Given the description of an element on the screen output the (x, y) to click on. 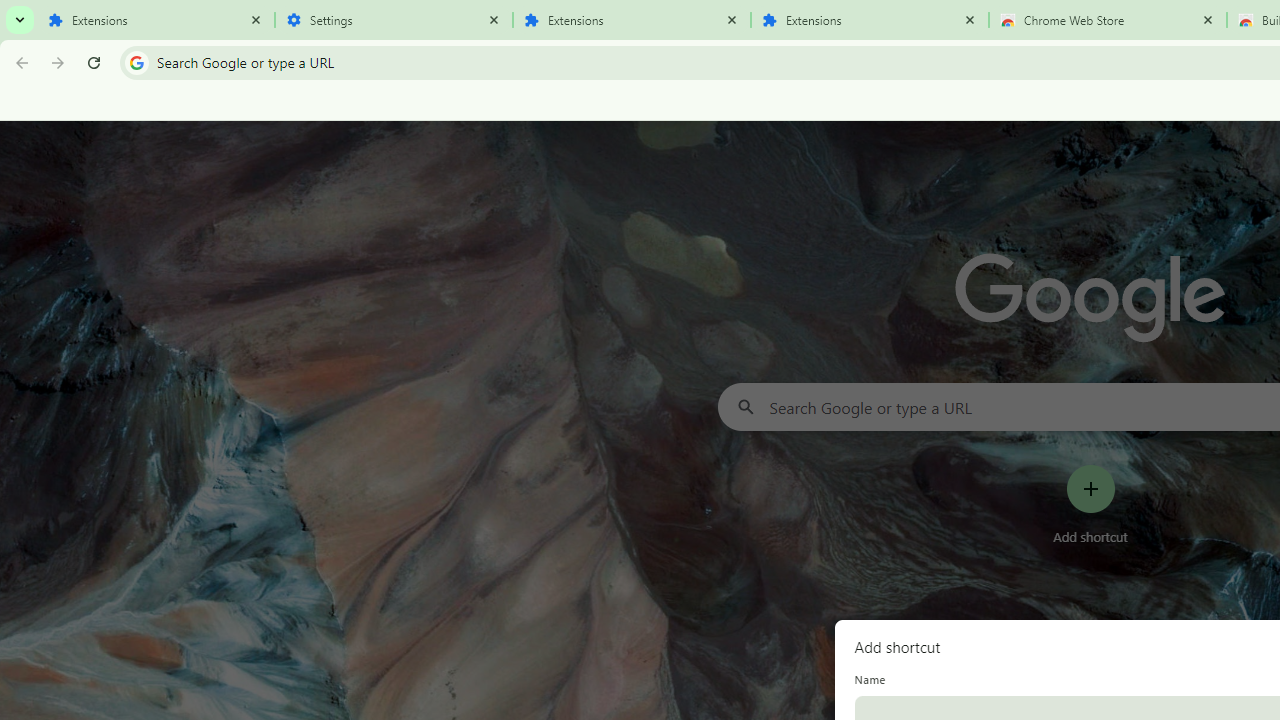
Extensions (156, 20)
Chrome Web Store (1108, 20)
Settings (394, 20)
Extensions (632, 20)
Extensions (870, 20)
